Given the description of an element on the screen output the (x, y) to click on. 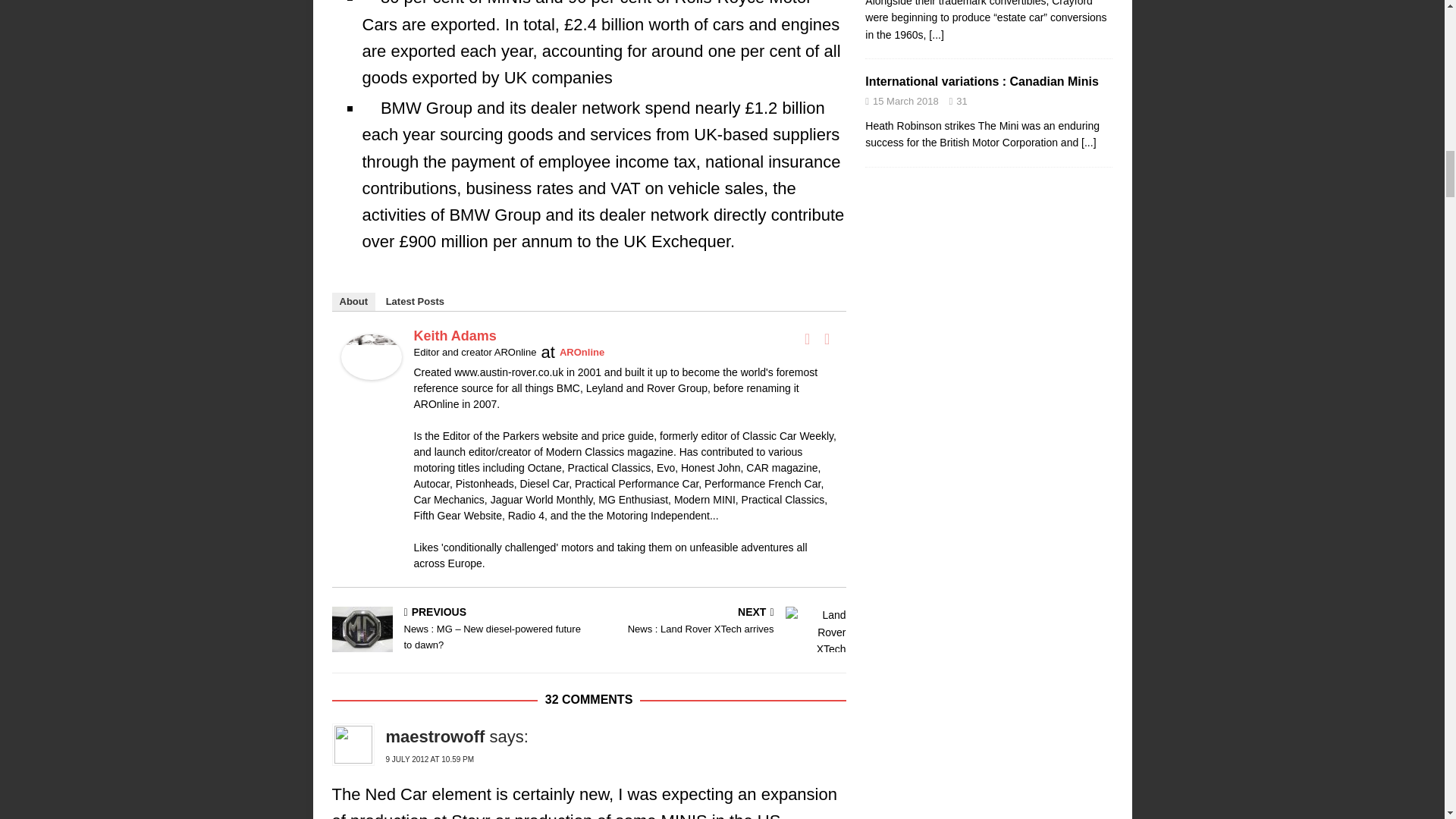
Keith Adams (370, 366)
Facebook (806, 339)
Twitter (826, 339)
